Given the description of an element on the screen output the (x, y) to click on. 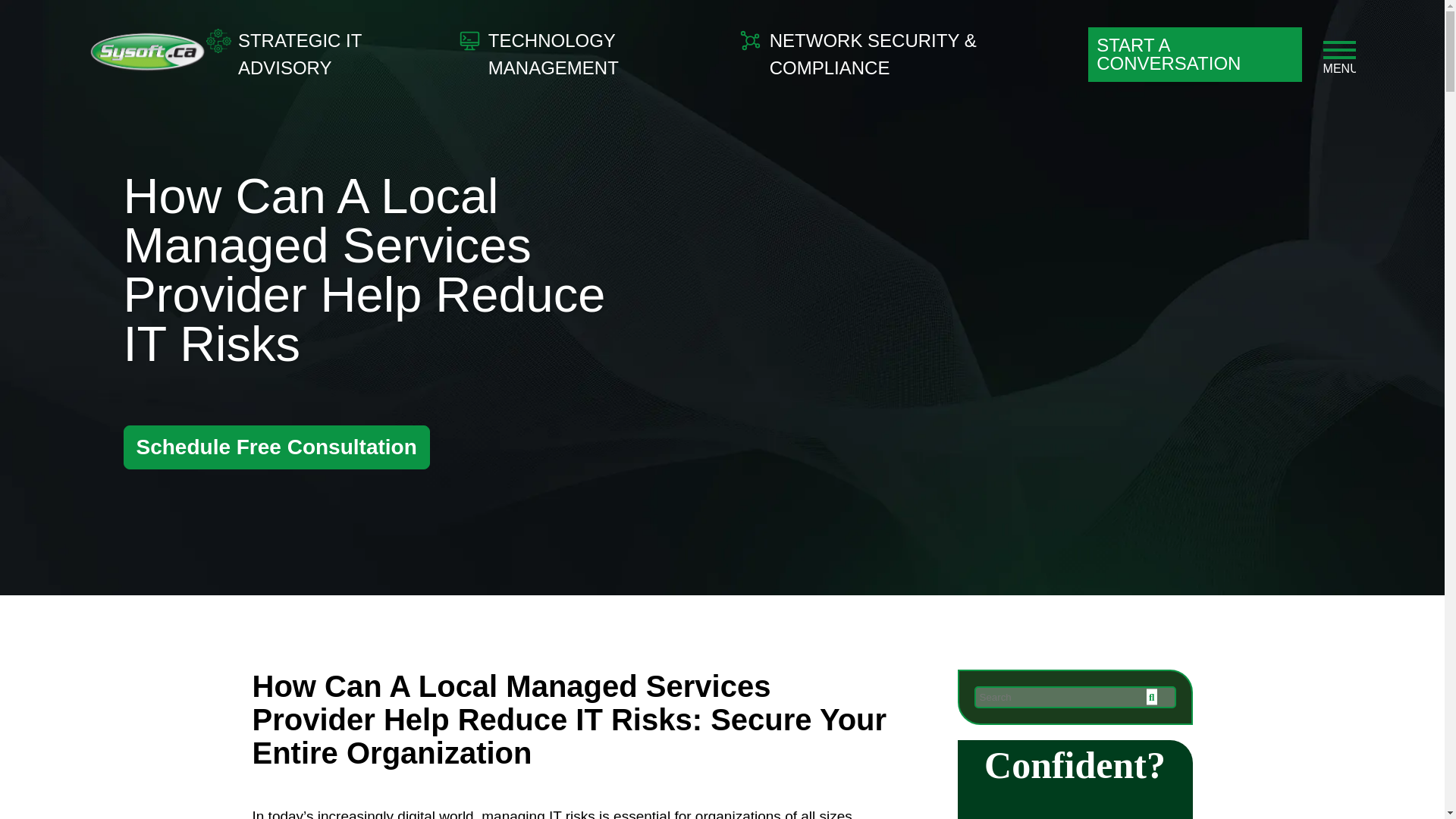
STRATEGIC IT ADVISORY (319, 54)
Search (1074, 697)
TECHNOLOGY MANAGEMENT (589, 54)
START A CONVERSATION (1194, 54)
